Given the description of an element on the screen output the (x, y) to click on. 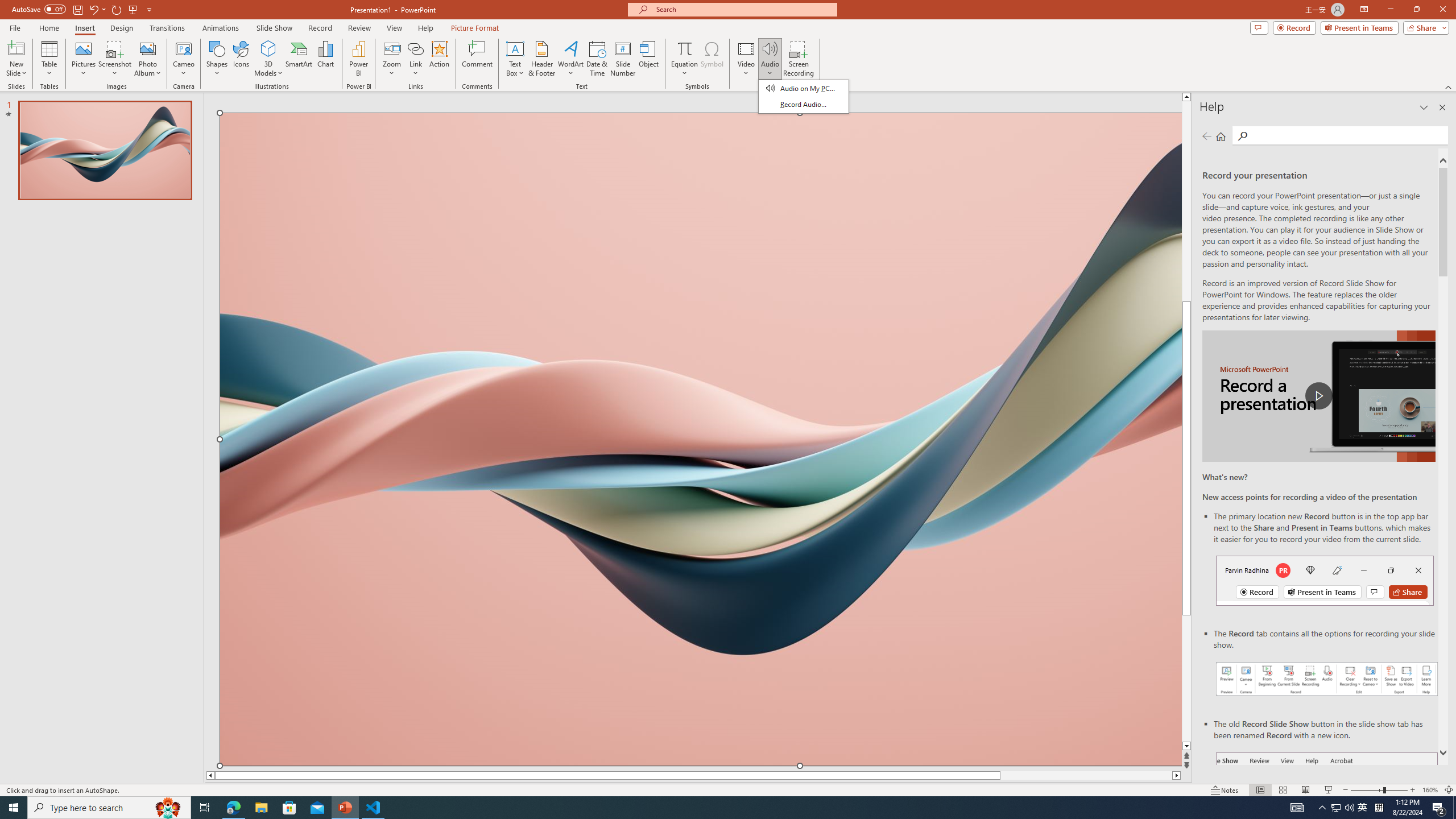
Date & Time... (596, 58)
WordArt (570, 58)
SmartArt... (298, 58)
